Given the description of an element on the screen output the (x, y) to click on. 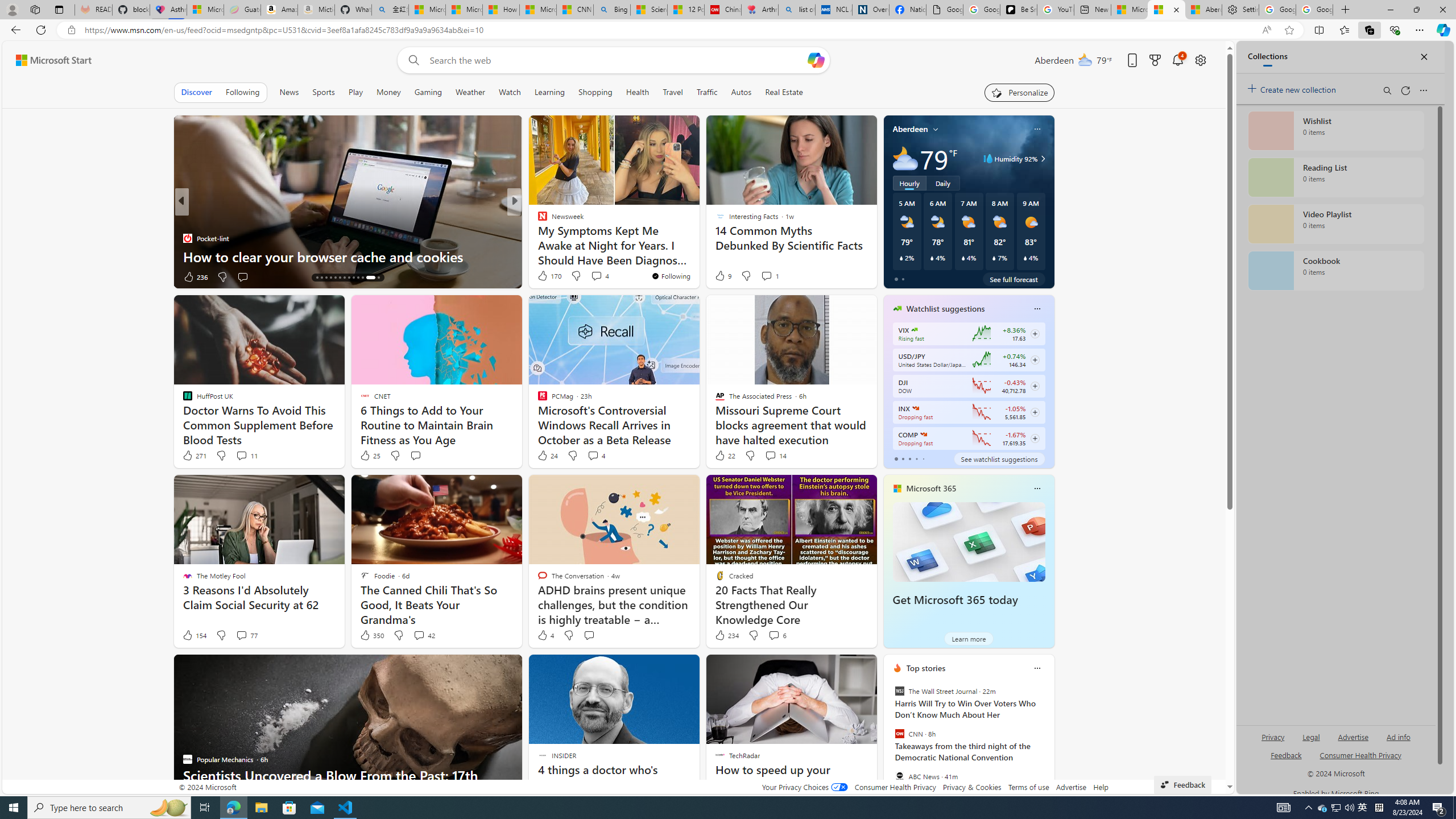
Open settings (1199, 60)
AutomationID: tab-17 (330, 277)
4 Like (545, 634)
Autos (740, 92)
See watchlist suggestions (999, 459)
More options (1037, 668)
Dislike (753, 634)
